Given the description of an element on the screen output the (x, y) to click on. 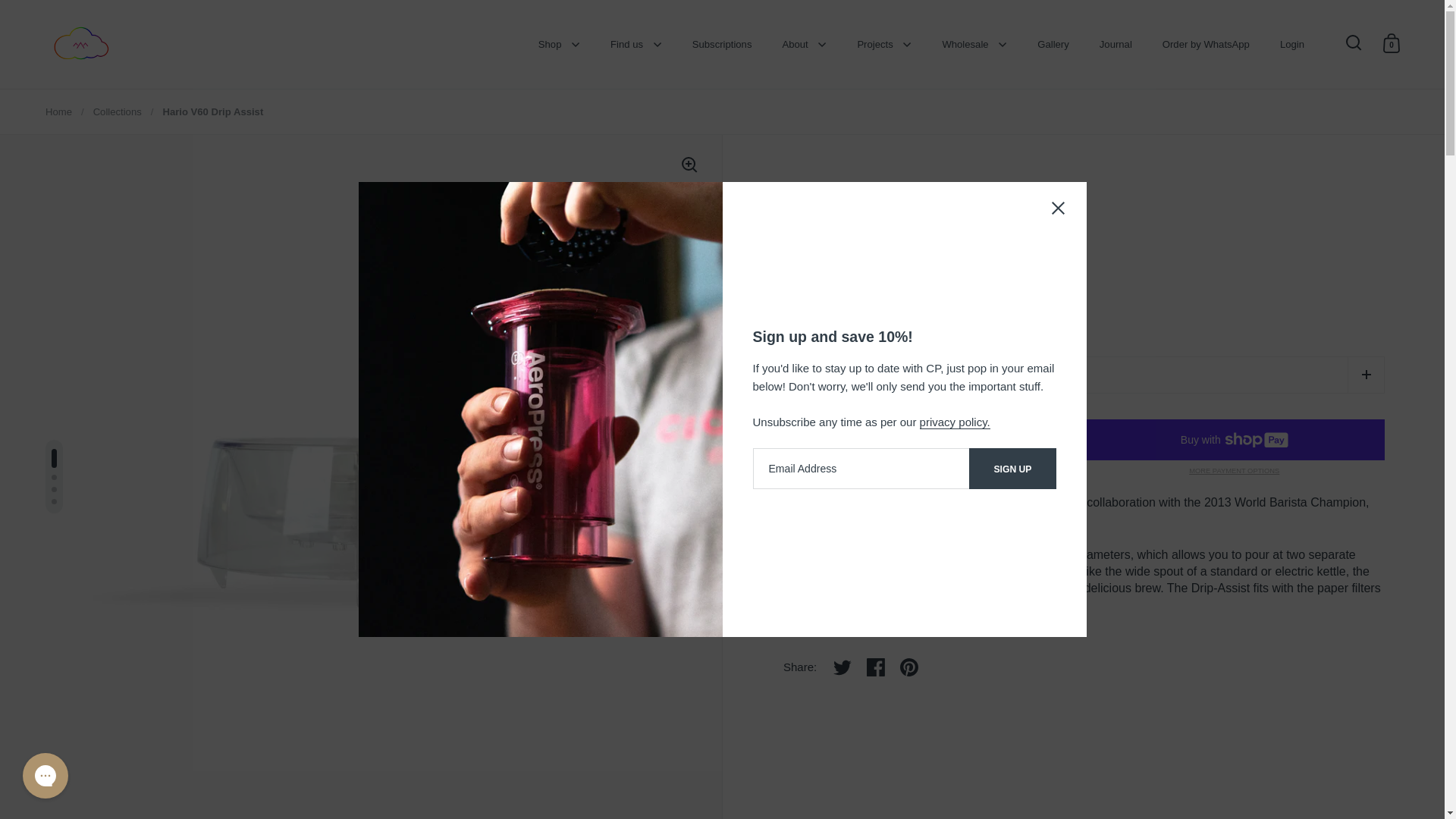
About (804, 43)
Open cart (1390, 42)
Subscriptions (722, 43)
Gorgias live chat messenger (44, 775)
Share on twitter (842, 666)
Find us (636, 43)
Shop (558, 43)
Share on facebook (875, 666)
Close sidebar (1058, 210)
1 (1084, 374)
Share on pinterest (909, 666)
Privacy Policy (955, 422)
Open search (1353, 42)
